Given the description of an element on the screen output the (x, y) to click on. 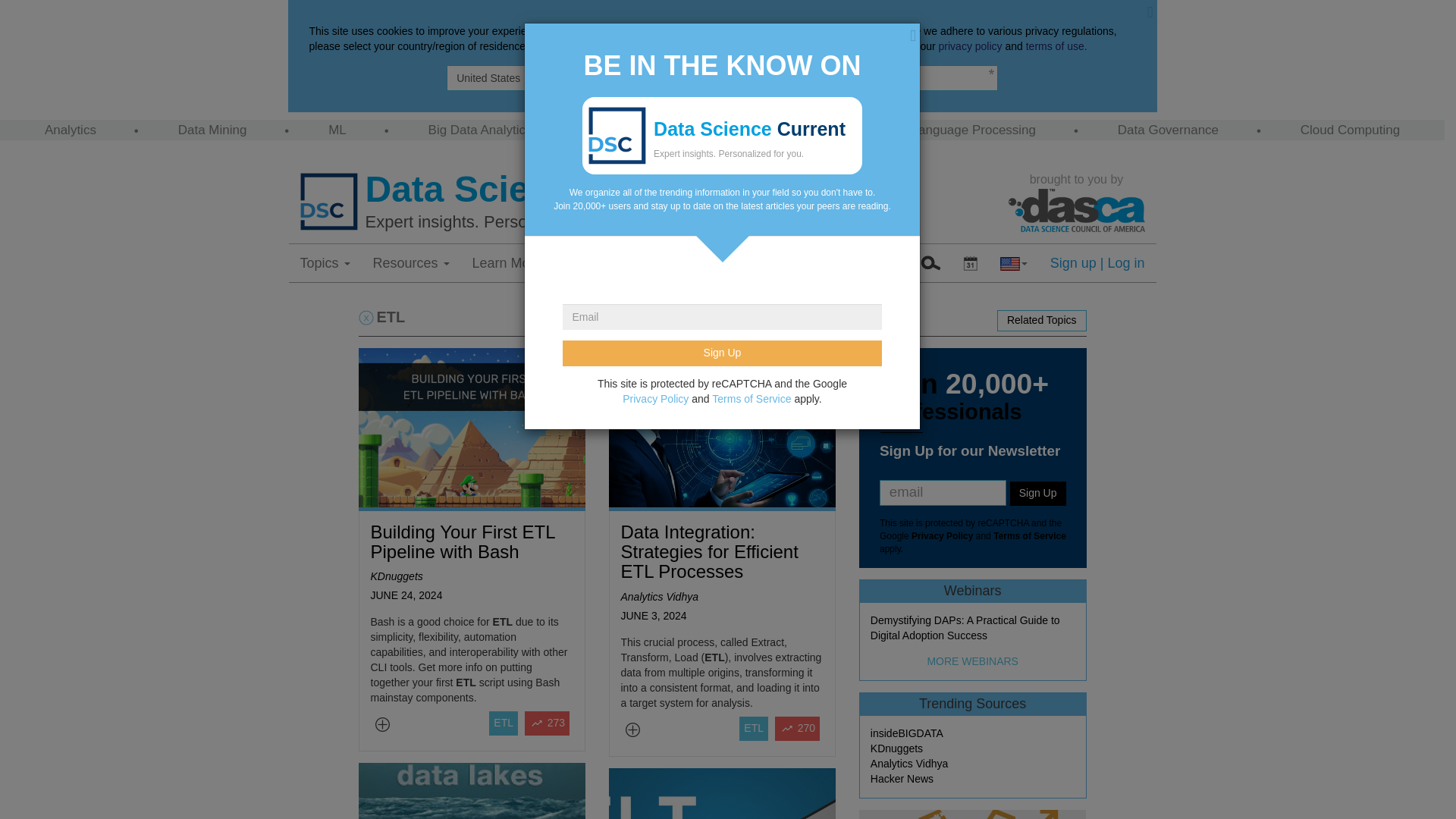
Data Governance (1168, 129)
ML (337, 129)
Data Science Current (683, 189)
United States (721, 77)
Data Mining (212, 129)
Cloud Computing (1349, 129)
Data Science (651, 129)
Select your country (1013, 262)
Sign Up (721, 353)
Big Data Analytics (480, 129)
Search (930, 262)
DASCA - Data Science Council of America (1076, 210)
Analytics (70, 129)
Analytics (70, 129)
Data Science (651, 129)
